Given the description of an element on the screen output the (x, y) to click on. 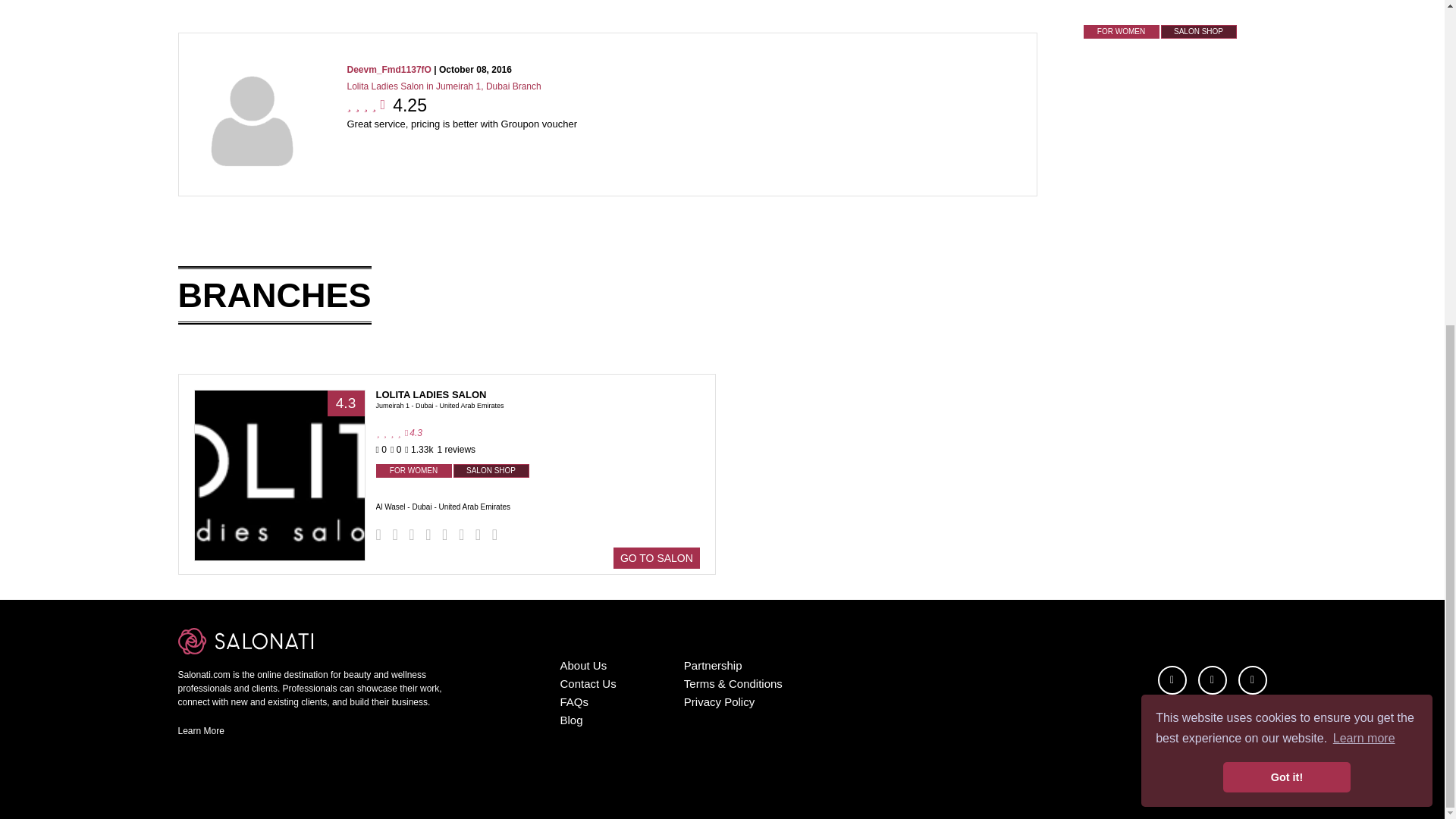
Learn more (1363, 205)
Got it! (1286, 245)
